Given the description of an element on the screen output the (x, y) to click on. 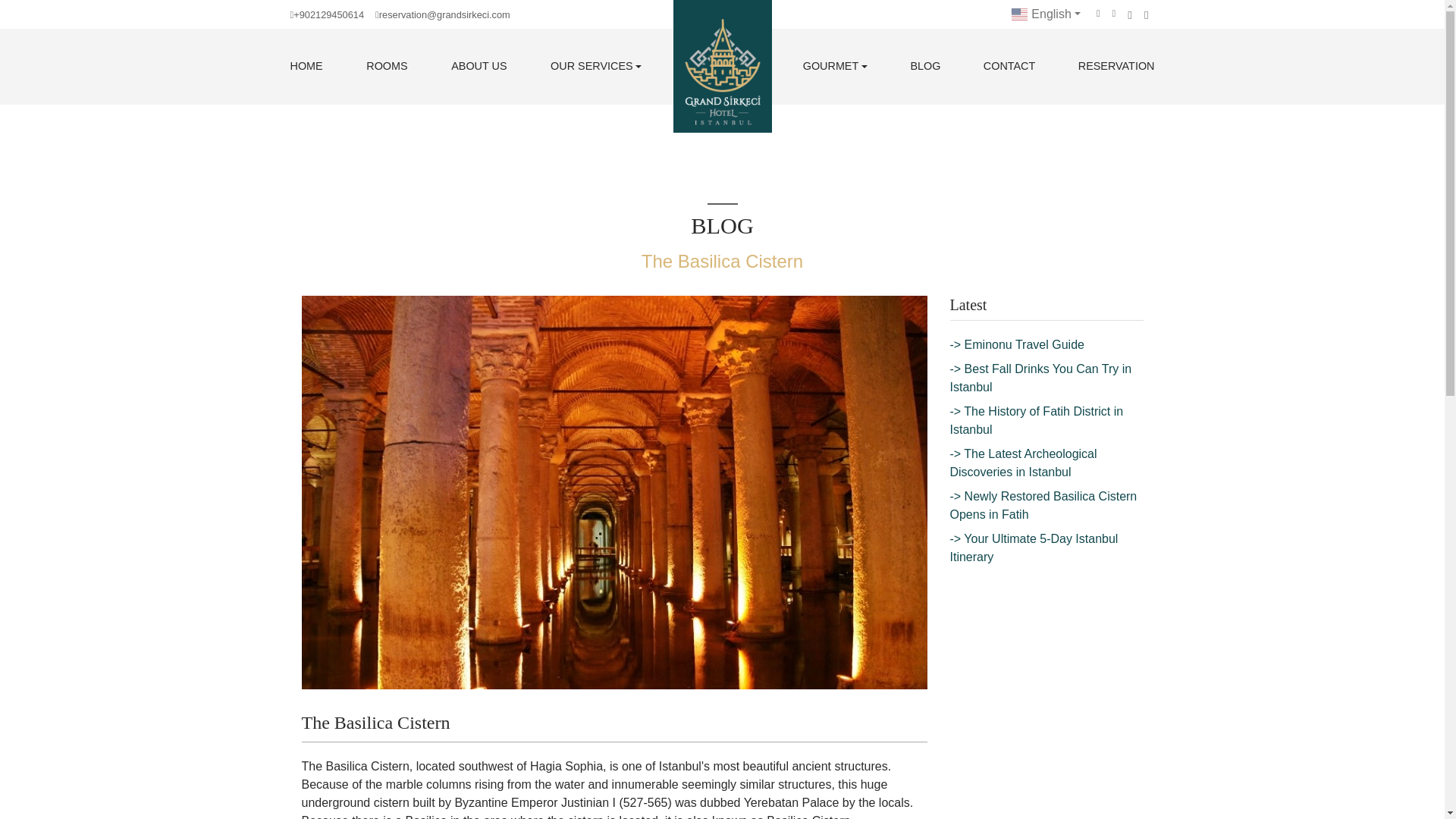
OUR SERVICES (596, 66)
RESERVATION (1116, 66)
English (1045, 14)
